Given the description of an element on the screen output the (x, y) to click on. 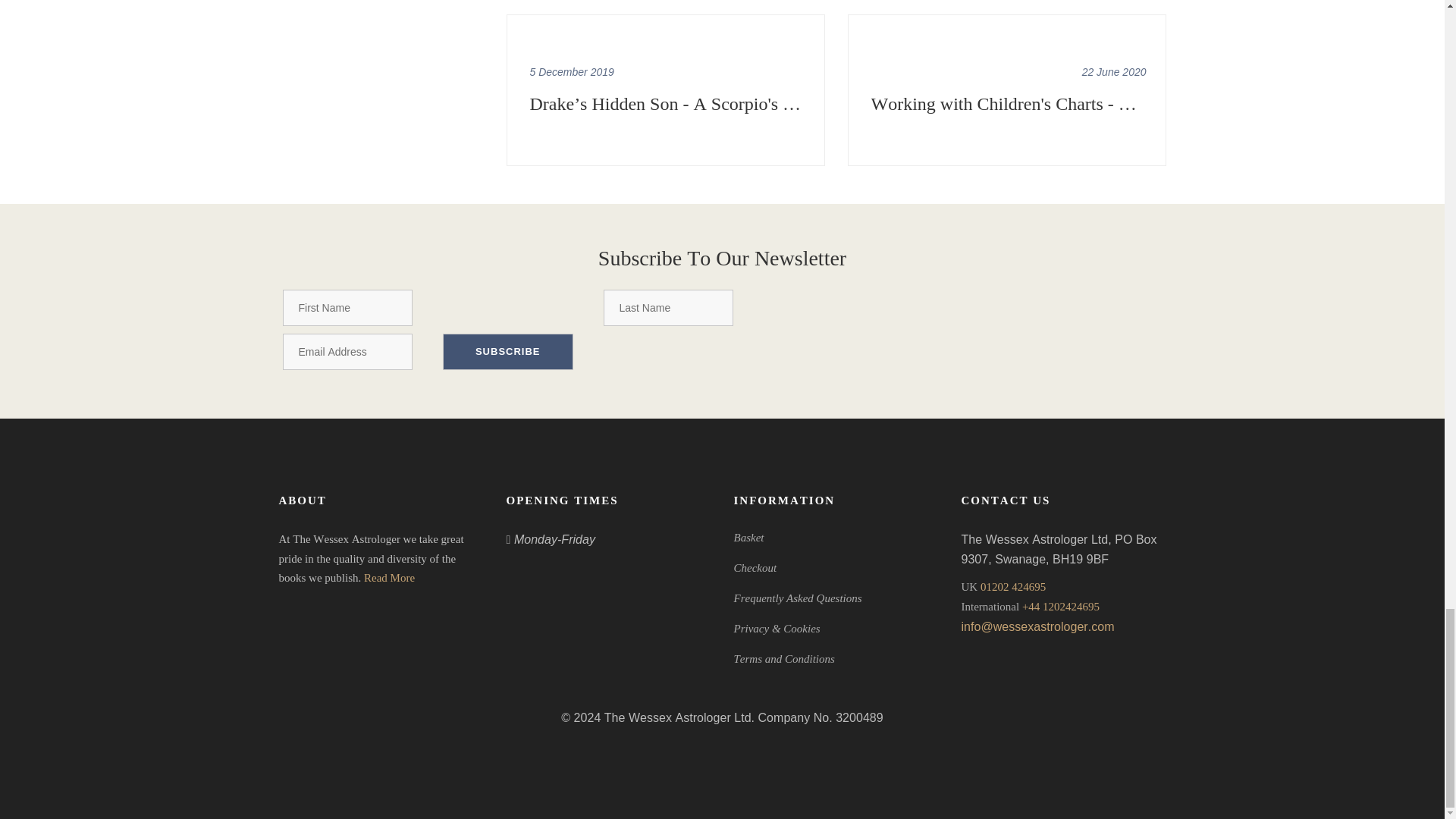
Basket (748, 537)
22 June 2020 (1114, 71)
Terms and Conditions (783, 658)
Working with Children's Charts - Alex Trenoweth (1007, 103)
Subscribe (507, 351)
Frequently Asked Questions (797, 598)
01202 424695 (1012, 586)
Checkout (755, 567)
Working with Children's Charts - Alex Trenoweth (1114, 71)
5 December 2019 (570, 71)
